Given the description of an element on the screen output the (x, y) to click on. 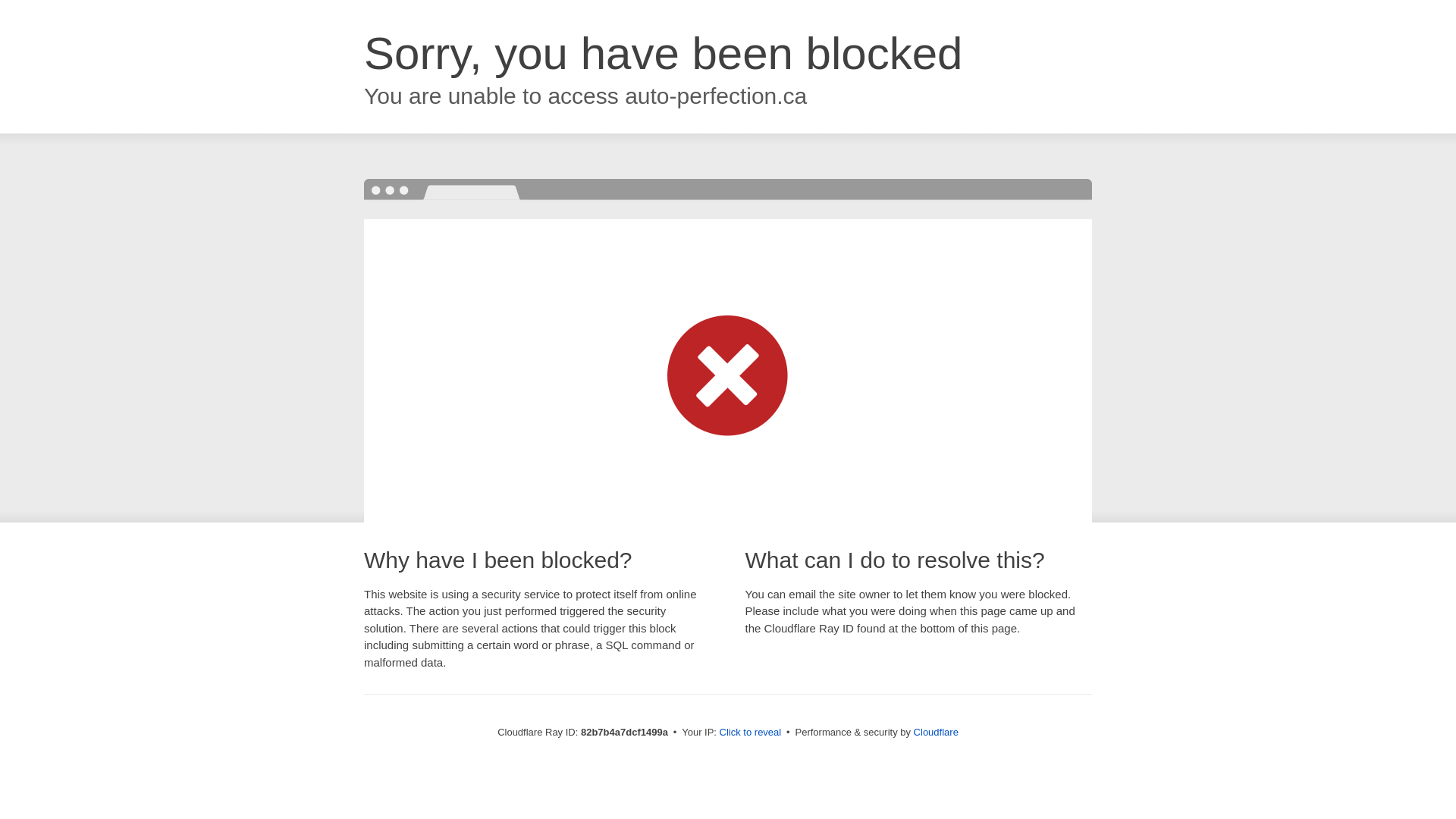
Cloudflare Element type: text (935, 731)
Click to reveal Element type: text (750, 732)
